Given the description of an element on the screen output the (x, y) to click on. 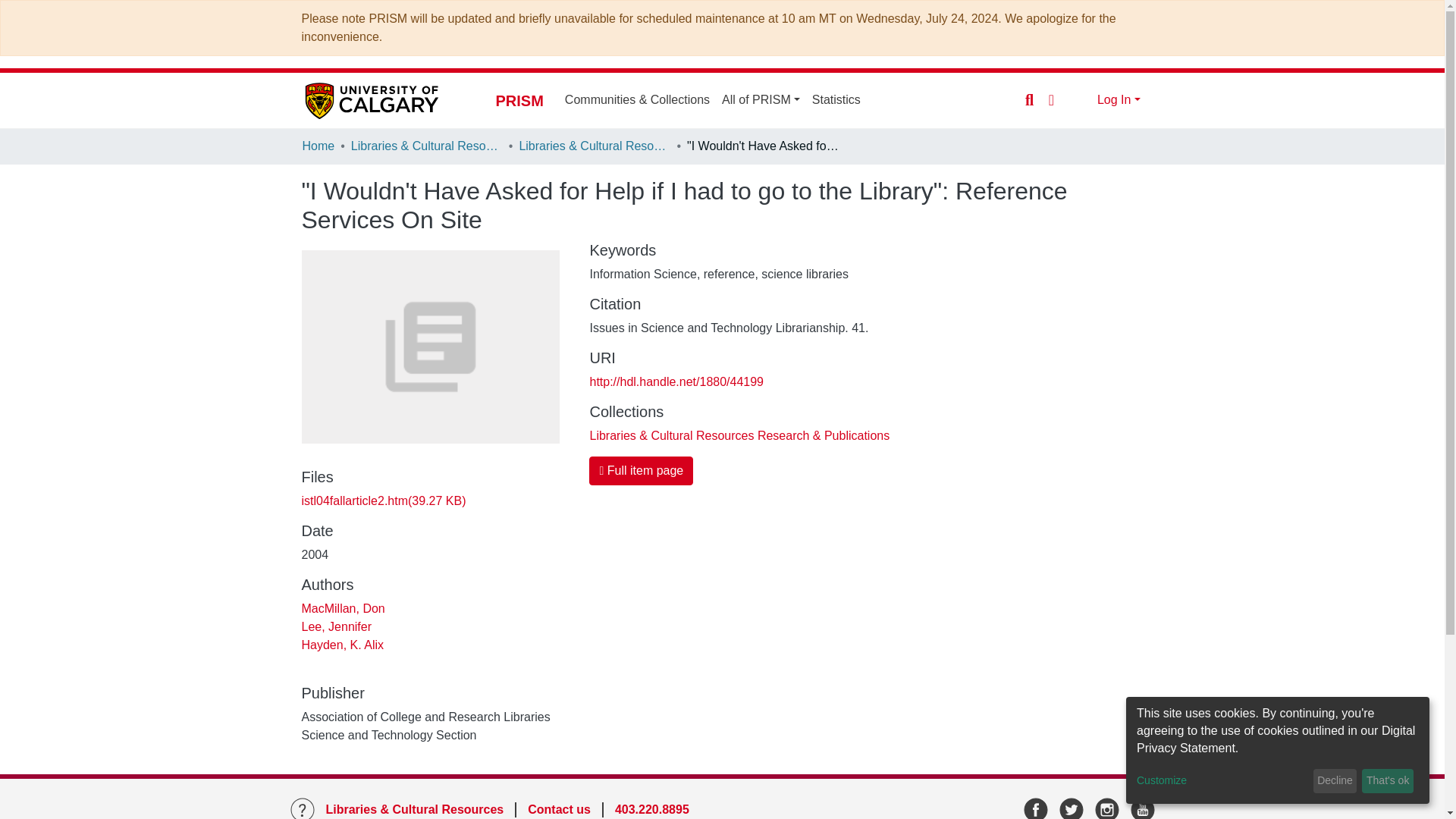
Search (1029, 99)
Full item page (641, 470)
MacMillan, Don (343, 608)
Language switch (1051, 99)
Log In (1118, 99)
Lee, Jennifer (336, 626)
Home (317, 146)
PRISM (519, 100)
Hayden, K. Alix (342, 644)
All of PRISM (761, 100)
Statistics (836, 100)
Contact us (559, 809)
403.220.8895 (651, 809)
Statistics (836, 100)
